Given the description of an element on the screen output the (x, y) to click on. 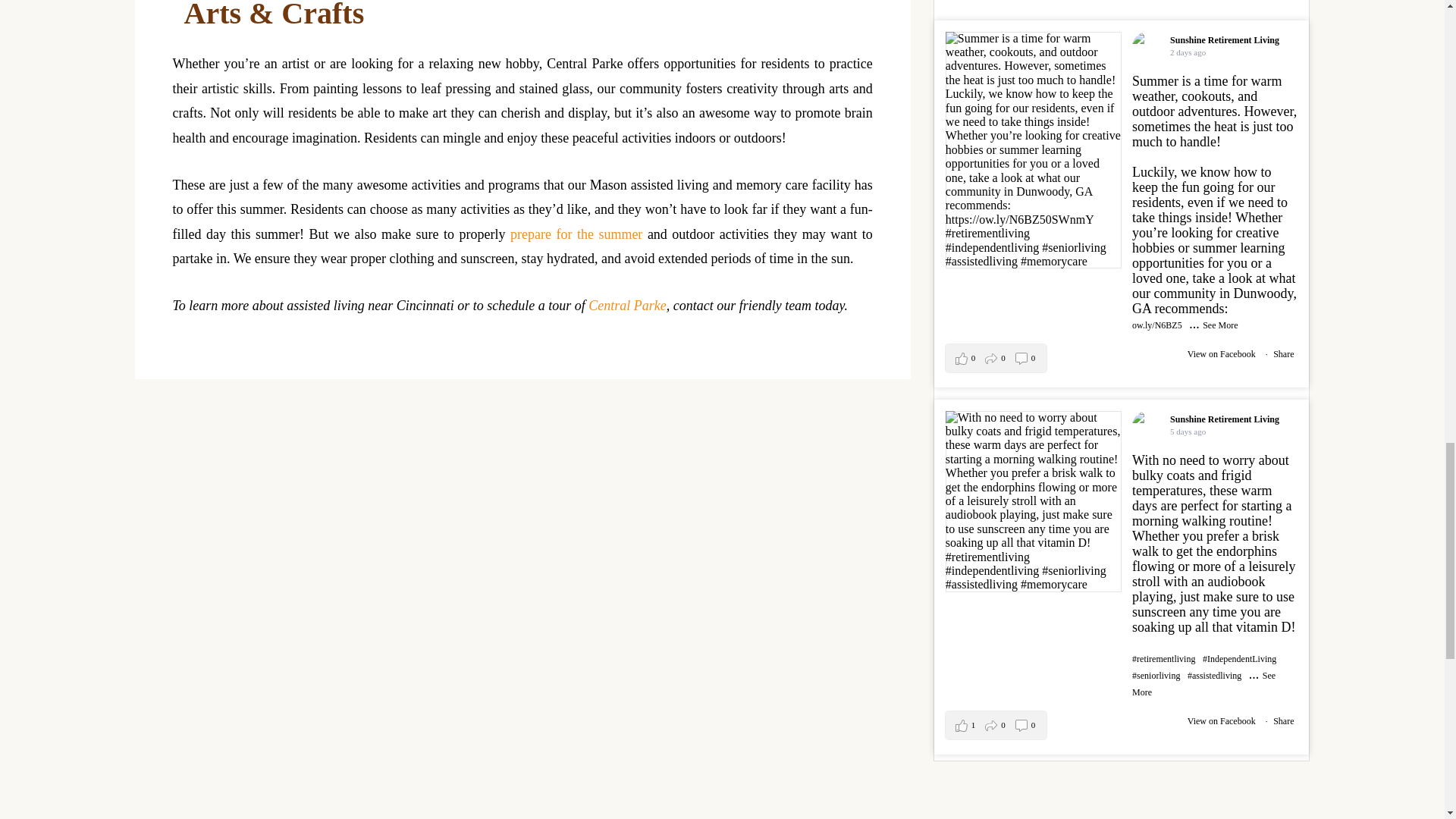
Share (1283, 720)
View on Facebook (1222, 353)
Share (1283, 353)
View on Facebook (1222, 720)
